Given the description of an element on the screen output the (x, y) to click on. 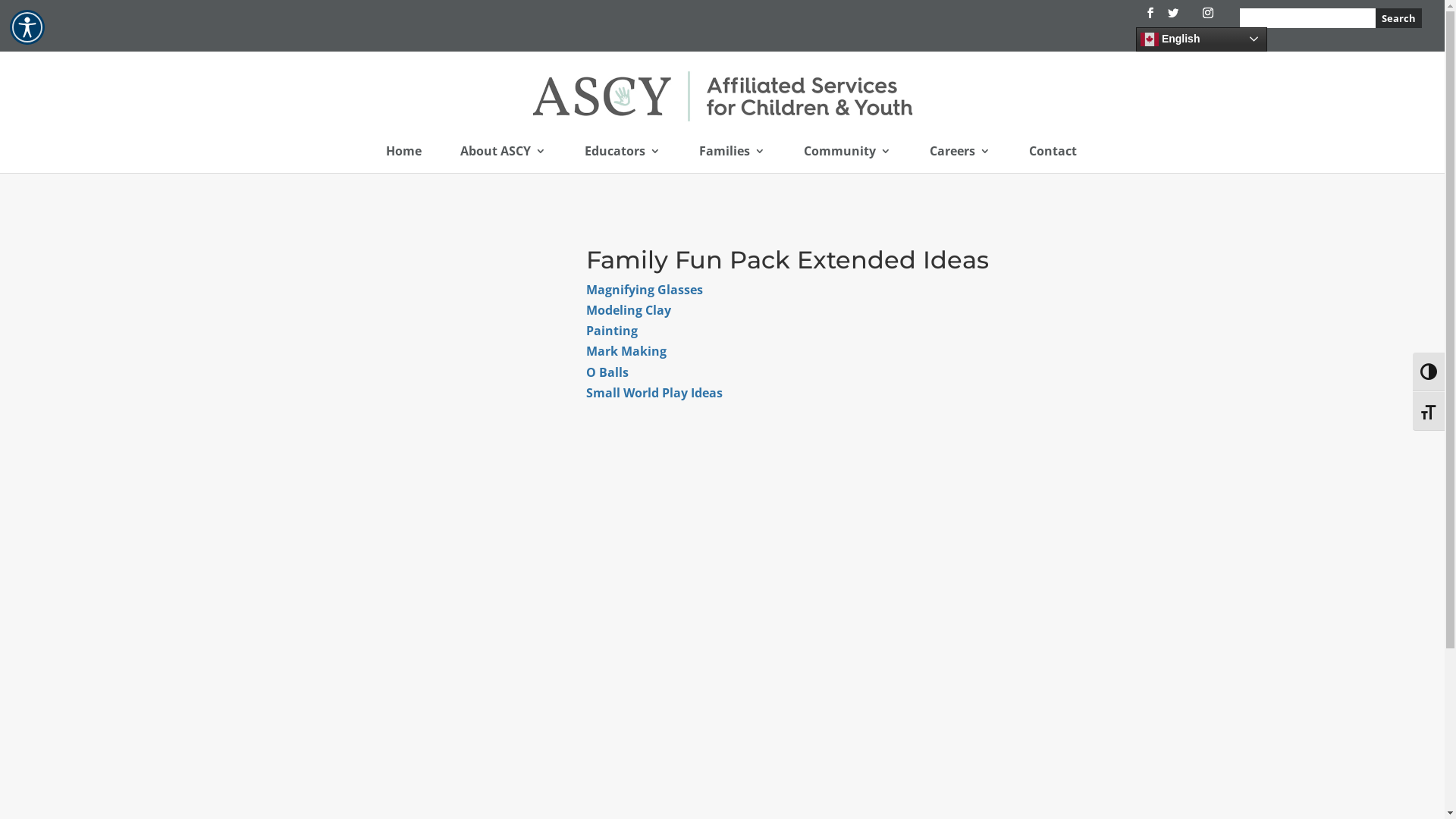
Community Element type: text (847, 158)
Toggle High Contrast Element type: text (1428, 371)
Contact Element type: text (1052, 158)
Careers Element type: text (959, 158)
Home Element type: text (402, 158)
Families Element type: text (732, 158)
Painting Element type: text (611, 330)
English Element type: text (1201, 39)
Search Element type: text (1398, 17)
About ASCY Element type: text (502, 158)
O Balls Element type: text (607, 372)
Magnifying Glasses Element type: text (644, 289)
Modeling Clay Element type: text (628, 309)
Educators Element type: text (621, 158)
Mark Making Element type: text (626, 350)
Toggle Font size Element type: text (1428, 410)
Small World Play Ideas Element type: text (654, 392)
